Given the description of an element on the screen output the (x, y) to click on. 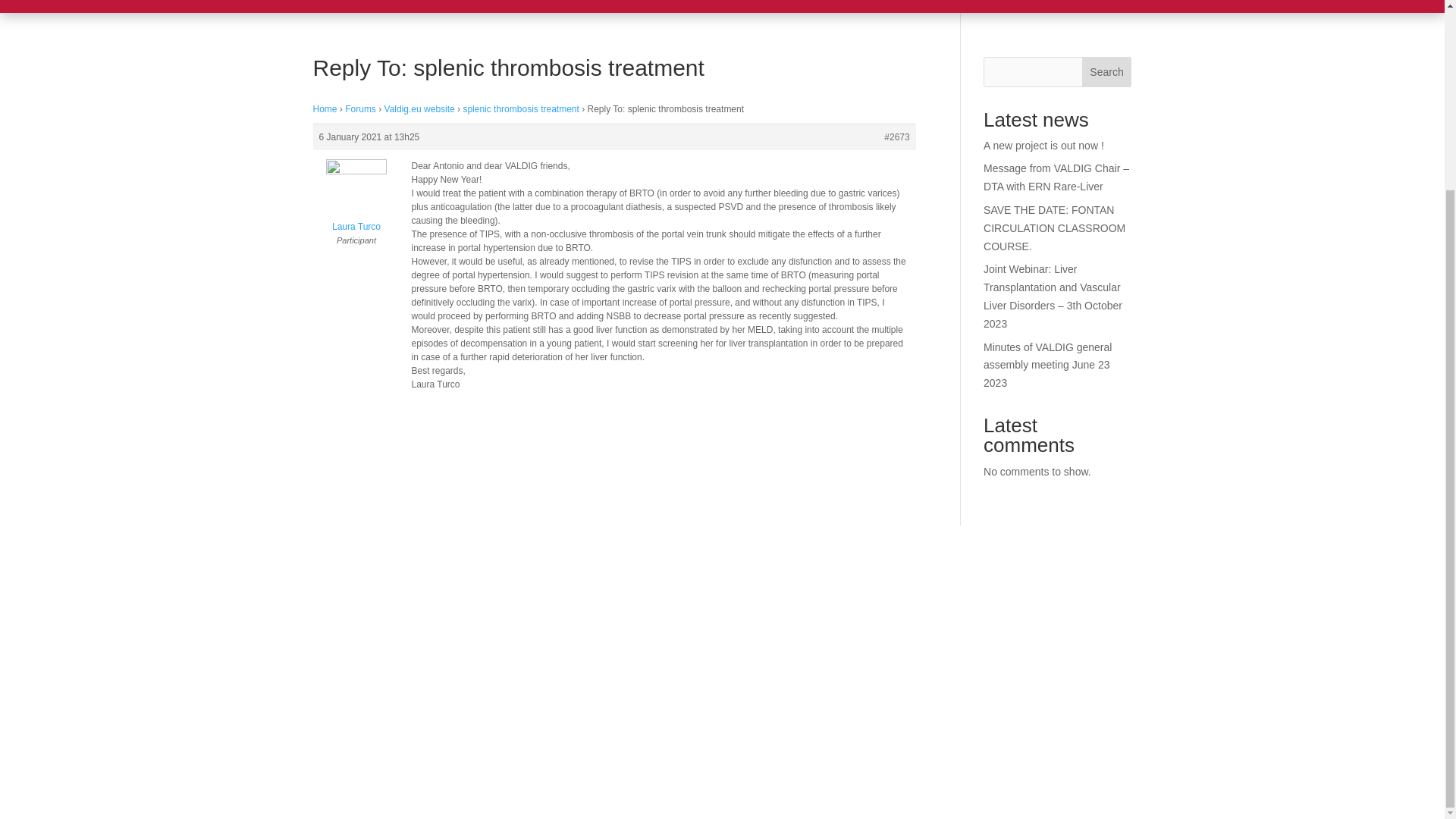
splenic thrombosis treatment (520, 109)
Home (324, 109)
Forums (360, 109)
A new project is out now ! (1043, 145)
Search (1106, 71)
Valdig.eu website (419, 109)
SAVE THE DATE: FONTAN CIRCULATION CLASSROOM COURSE. (1054, 227)
View Laura Turco's profile (355, 199)
Laura Turco (355, 199)
Minutes of VALDIG general assembly meeting June 23 2023 (1048, 365)
